Given the description of an element on the screen output the (x, y) to click on. 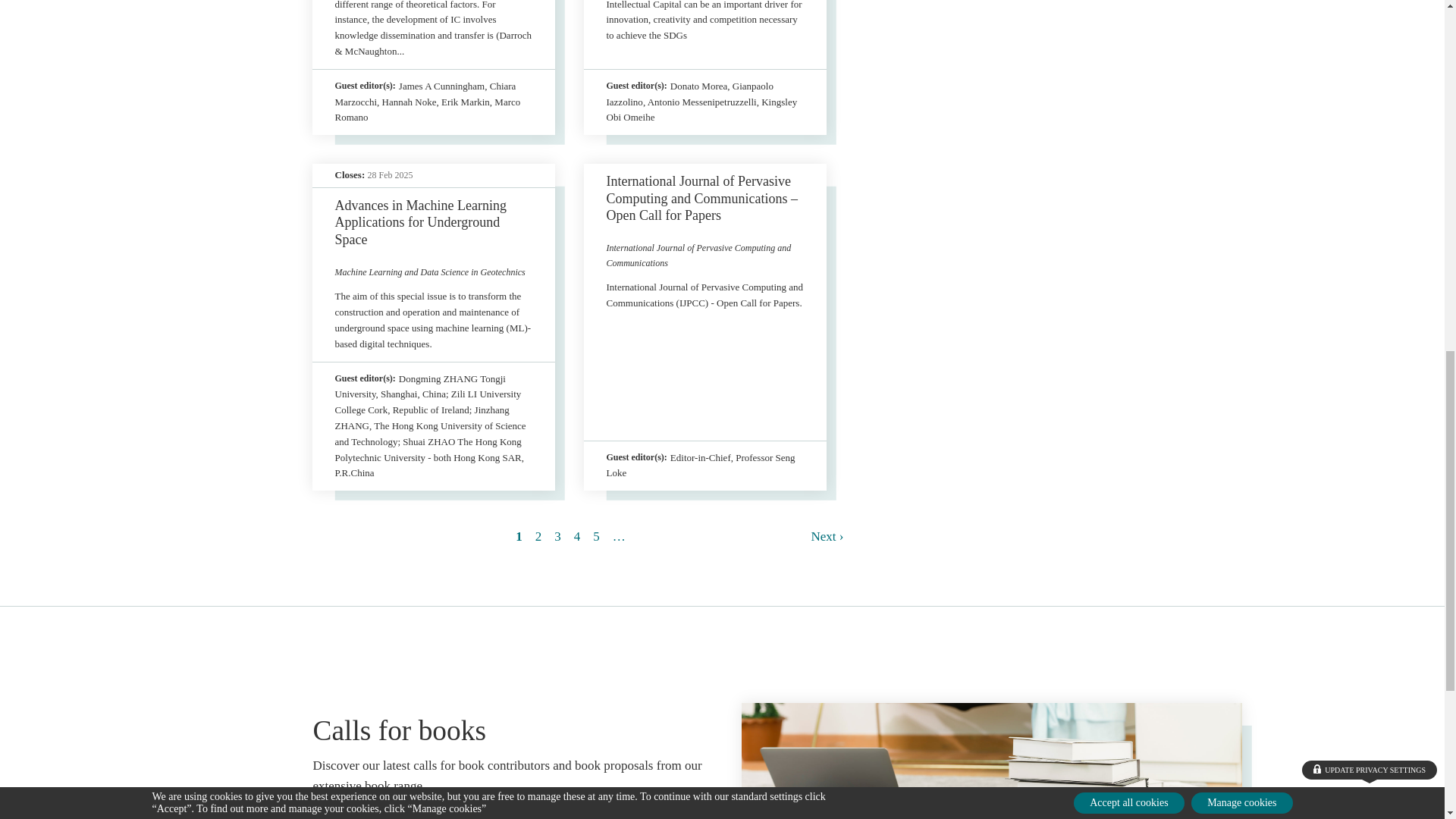
Go to last page (619, 536)
Go to next page (827, 536)
